Given the description of an element on the screen output the (x, y) to click on. 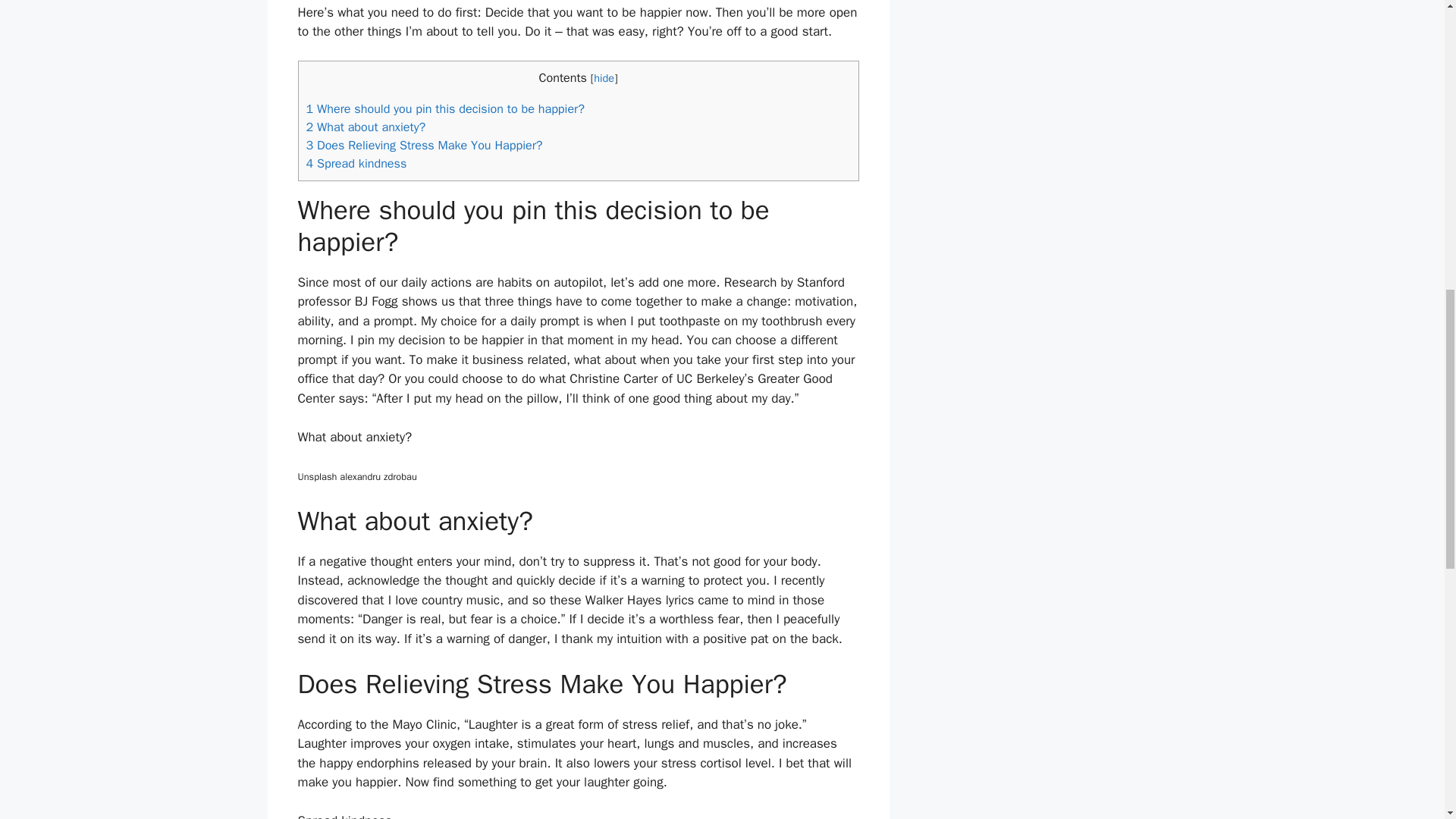
1 Where should you pin this decision to be happier? (445, 108)
hide (604, 78)
2 What about anxiety? (365, 126)
3 Does Relieving Stress Make You Happier? (424, 145)
4 Spread kindness (356, 163)
